Given the description of an element on the screen output the (x, y) to click on. 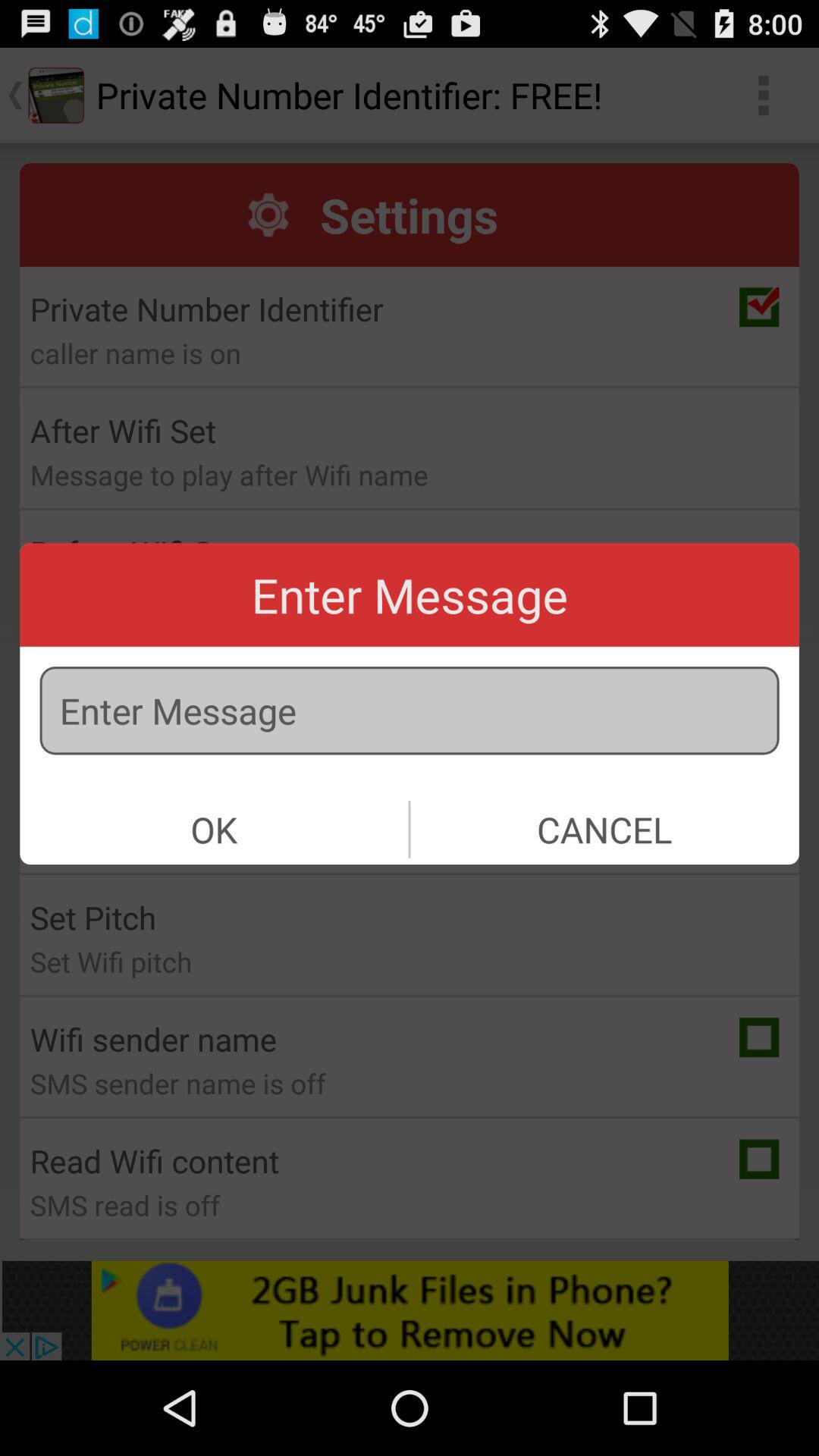
enter message (409, 710)
